Given the description of an element on the screen output the (x, y) to click on. 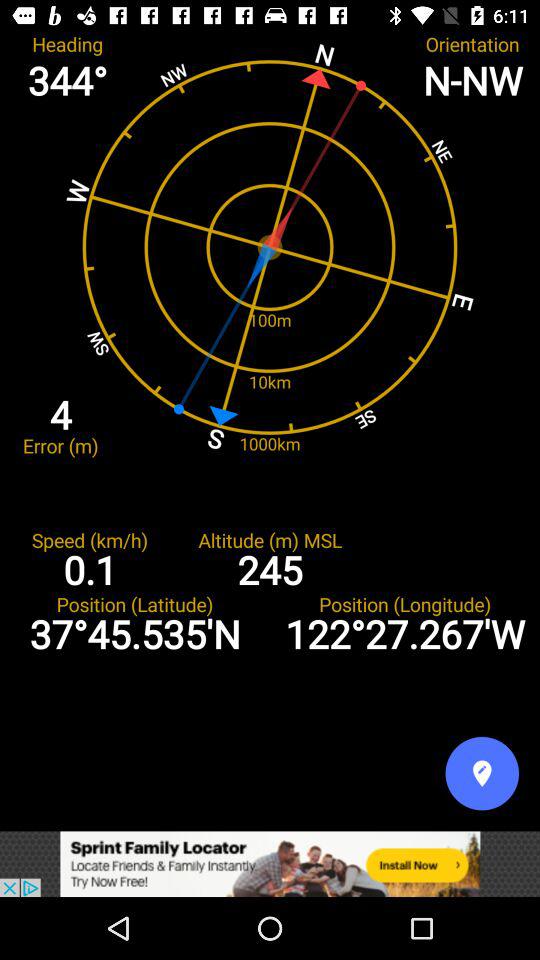
add pin (482, 773)
